Given the description of an element on the screen output the (x, y) to click on. 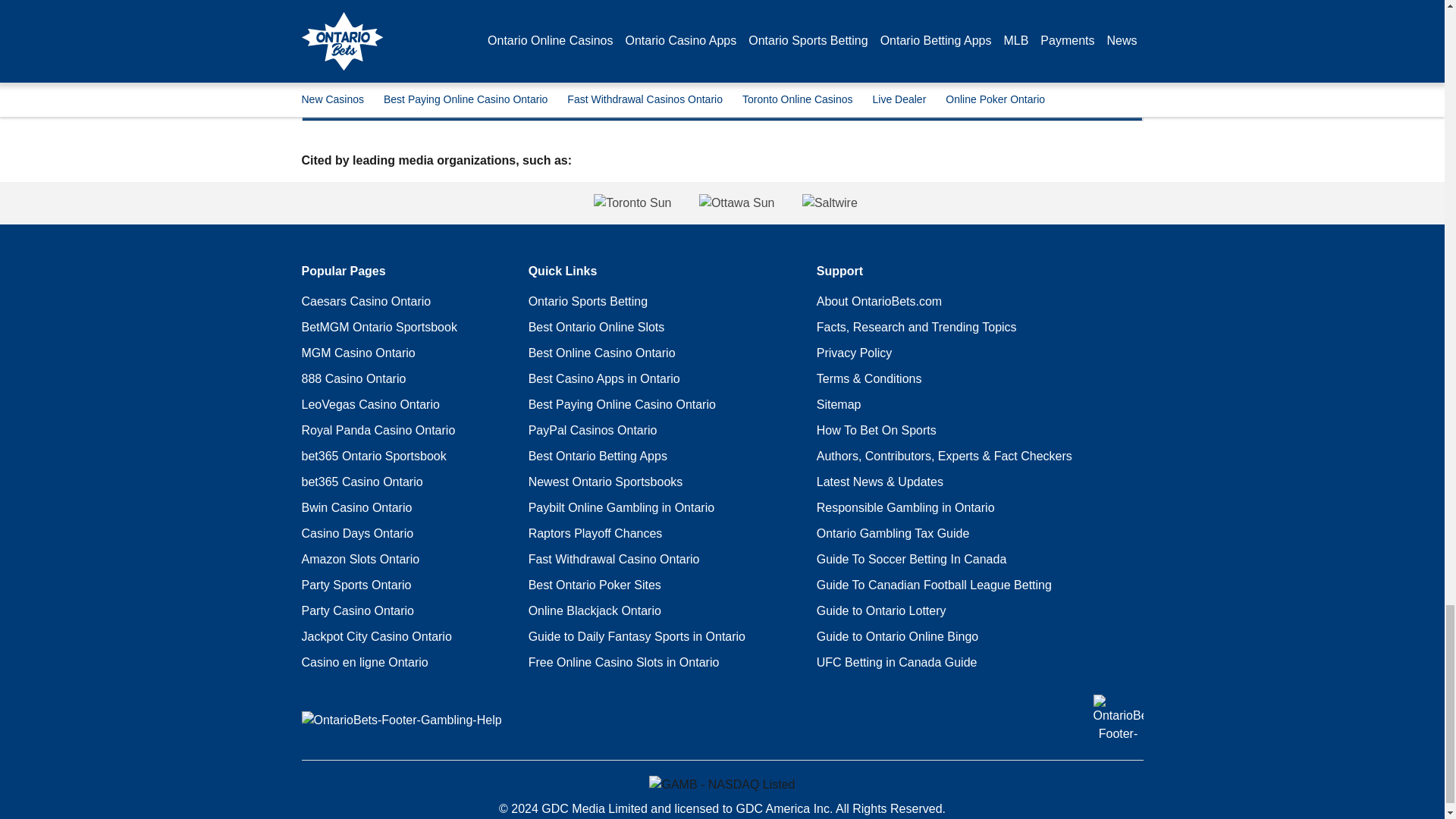
Cecil Peters (386, 34)
OntarioBets-Footer-Gambling-Help (401, 720)
Saltwire (973, 203)
Toronto Sun (489, 203)
OntarioBets-Footer-Minimum-Age (1117, 719)
Ottawa Sun (736, 203)
